Given the description of an element on the screen output the (x, y) to click on. 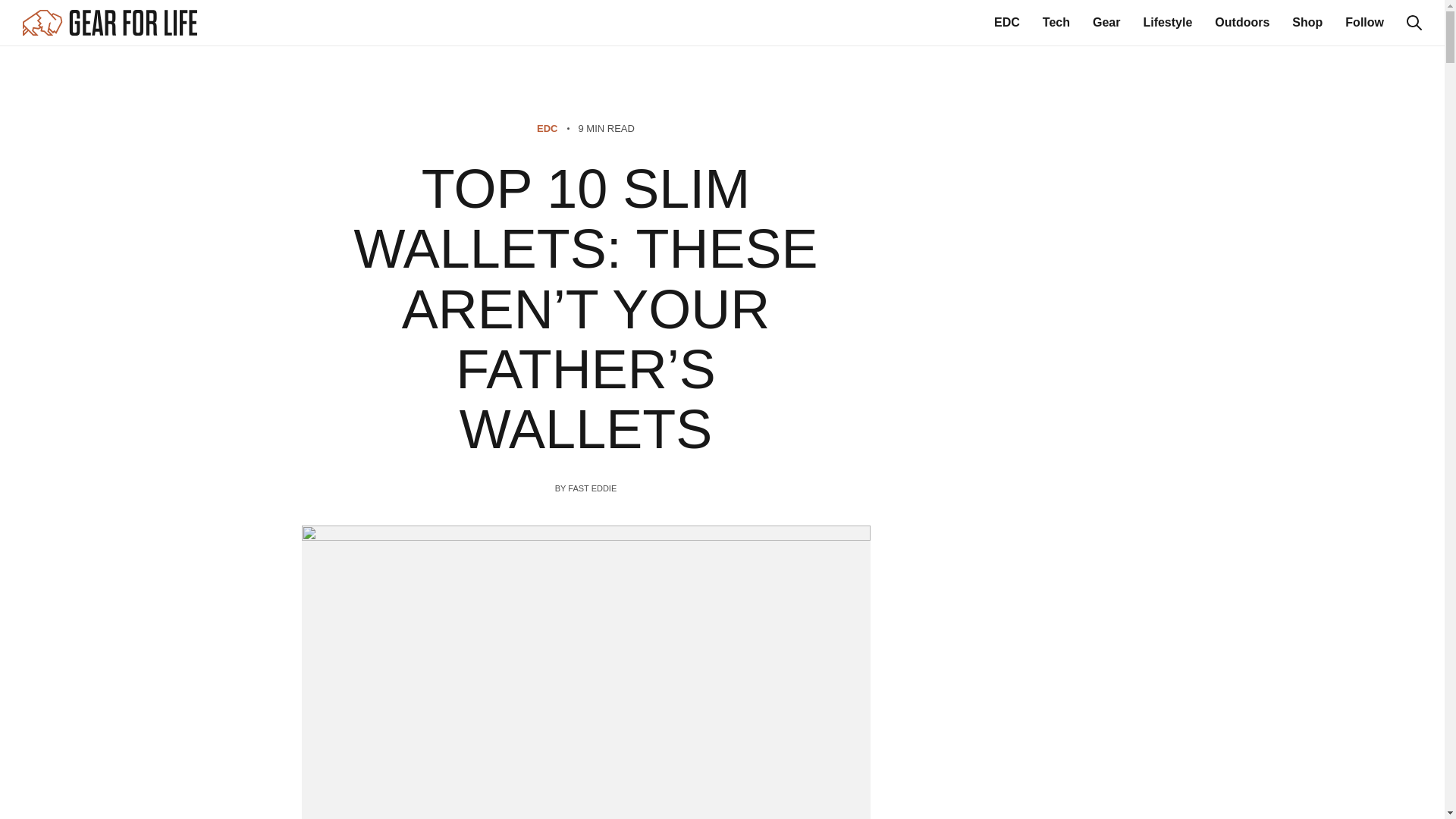
Lifestyle (1167, 22)
Gear (1106, 22)
EDC (547, 128)
Shop (1307, 22)
Tech (1056, 22)
FAST EDDIE (591, 488)
Outdoors (1241, 22)
EDC (1007, 22)
Follow (1364, 22)
